Given the description of an element on the screen output the (x, y) to click on. 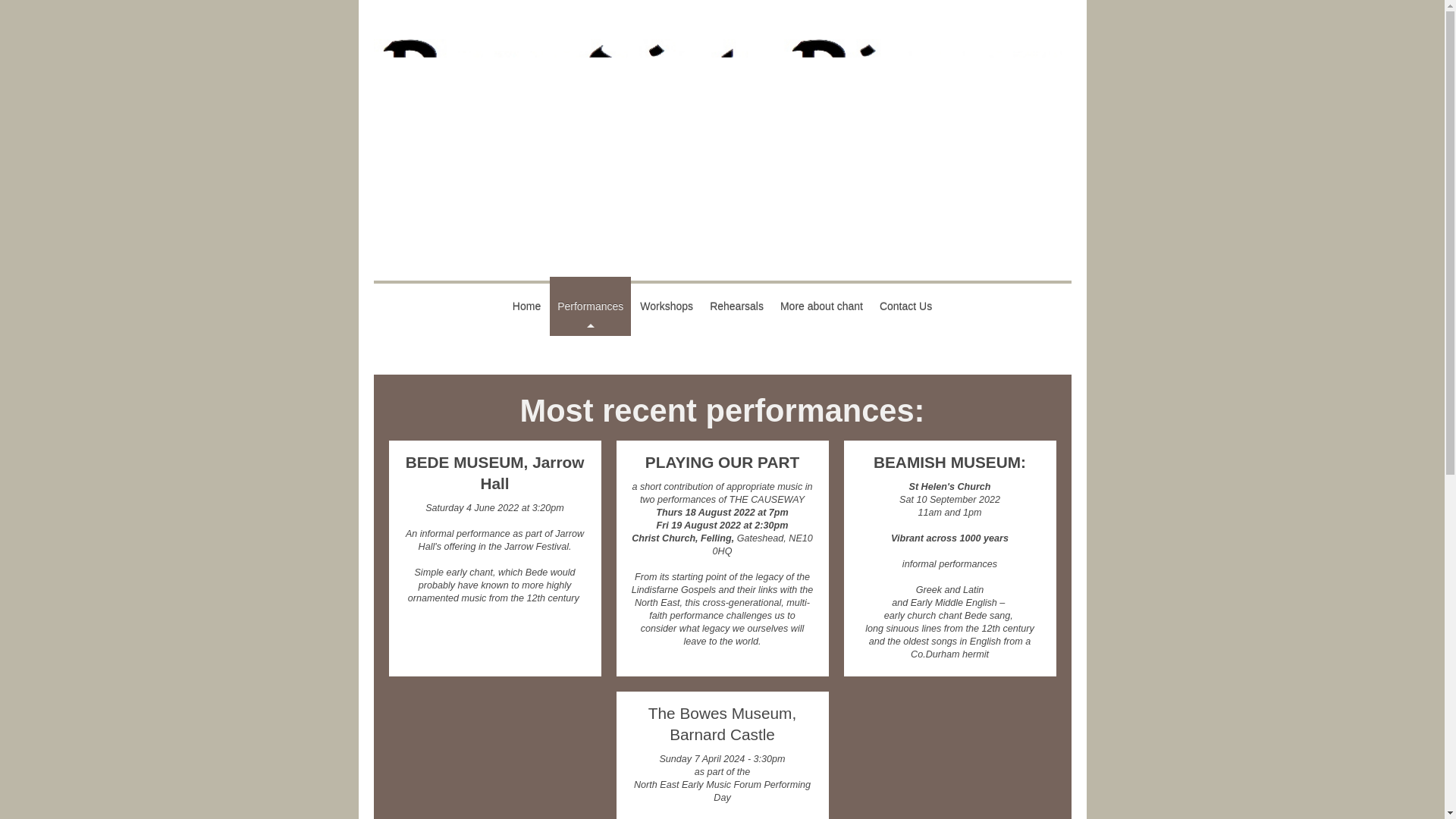
Rehearsals (736, 305)
Performances (590, 305)
More about chant (821, 305)
Contact Us (905, 305)
Workshops (665, 305)
